Given the description of an element on the screen output the (x, y) to click on. 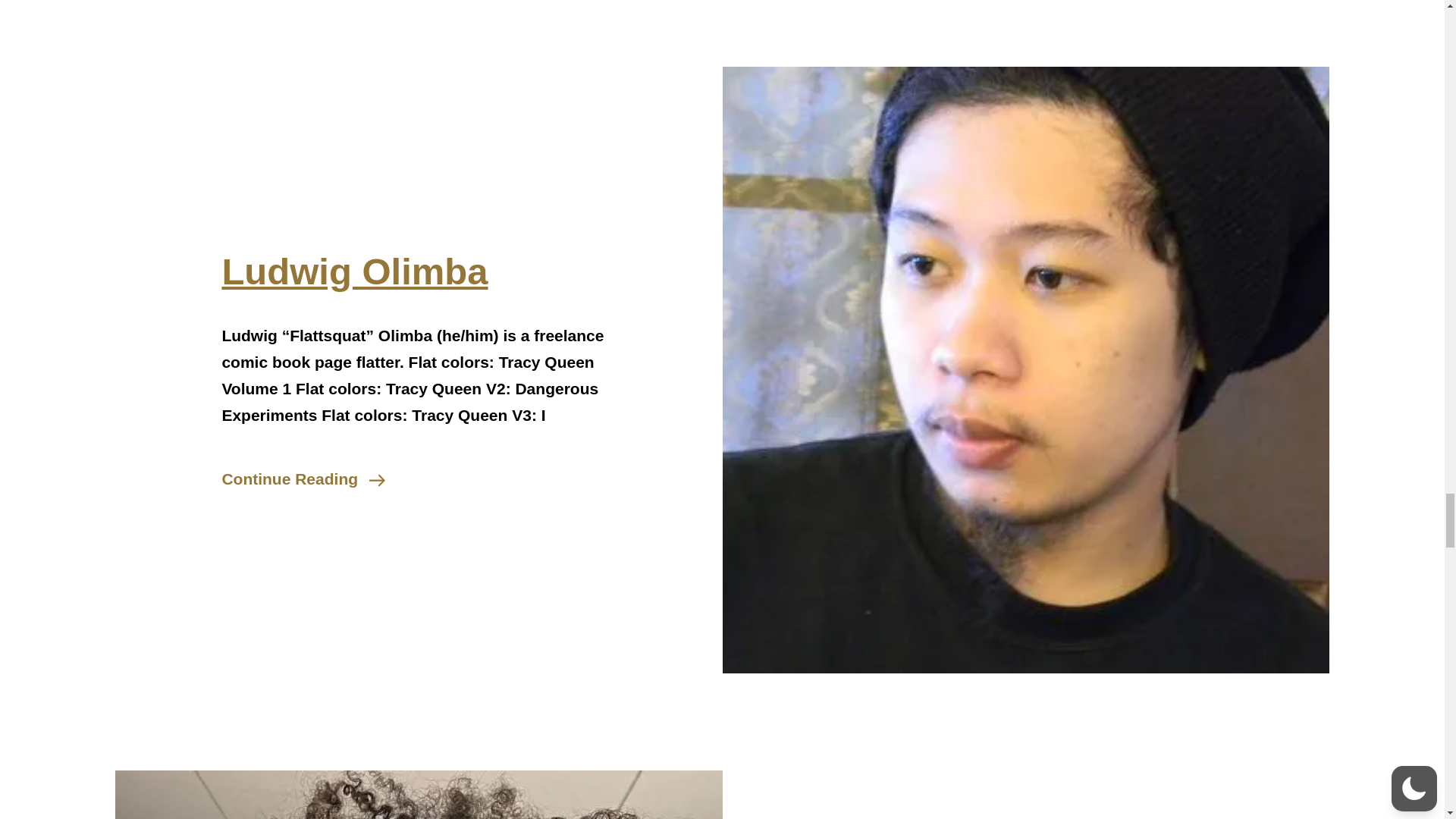
stevieraedrawn (418, 9)
